Given the description of an element on the screen output the (x, y) to click on. 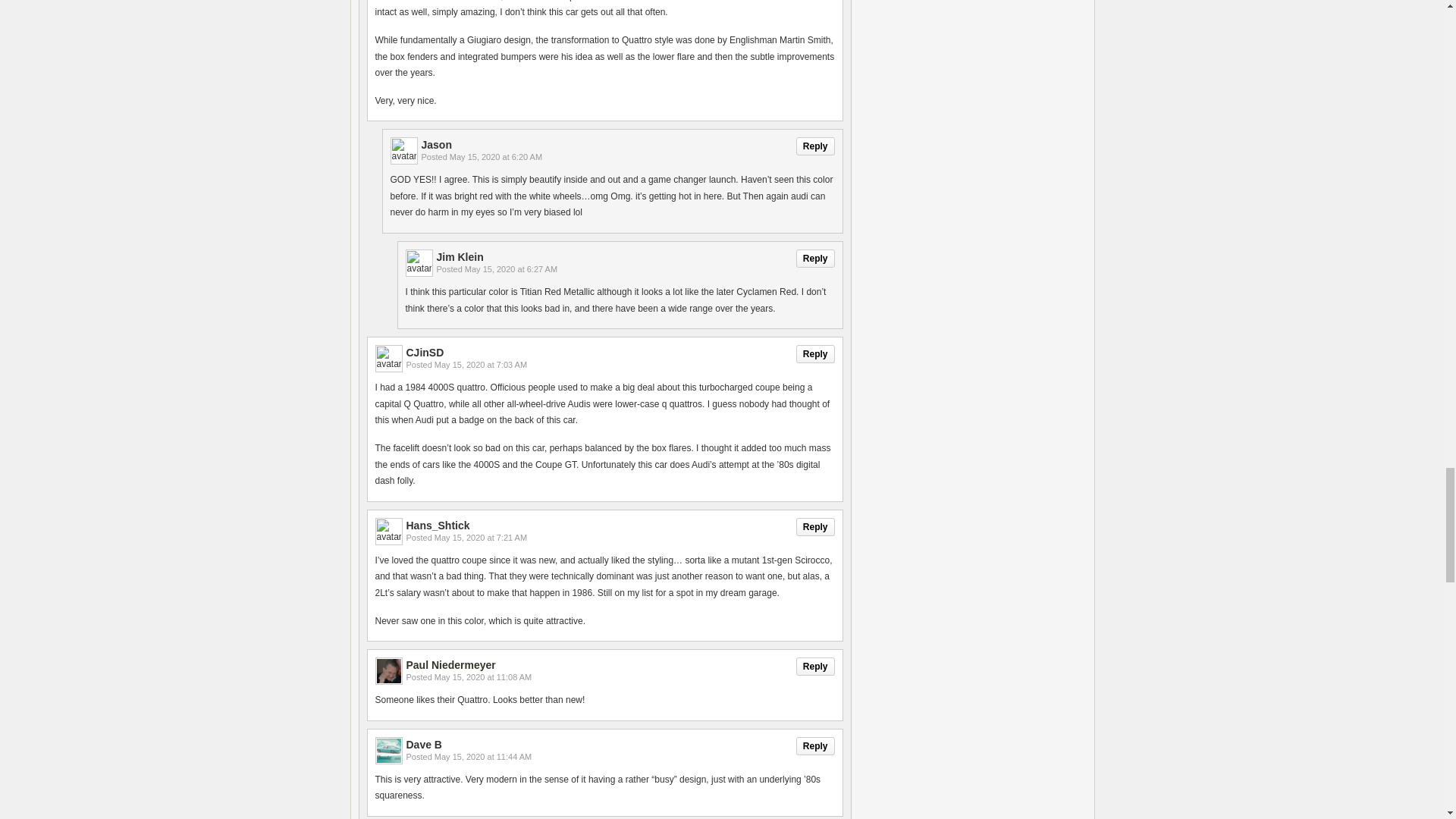
2020-05-15T11:44:19-07:00 (482, 756)
2020-05-15T07:03:27-07:00 (480, 364)
2020-05-15T07:21:47-07:00 (480, 537)
2020-05-15T06:27:25-07:00 (510, 268)
2020-05-15T11:08:13-07:00 (482, 676)
2020-05-15T06:20:18-07:00 (495, 156)
